Given the description of an element on the screen output the (x, y) to click on. 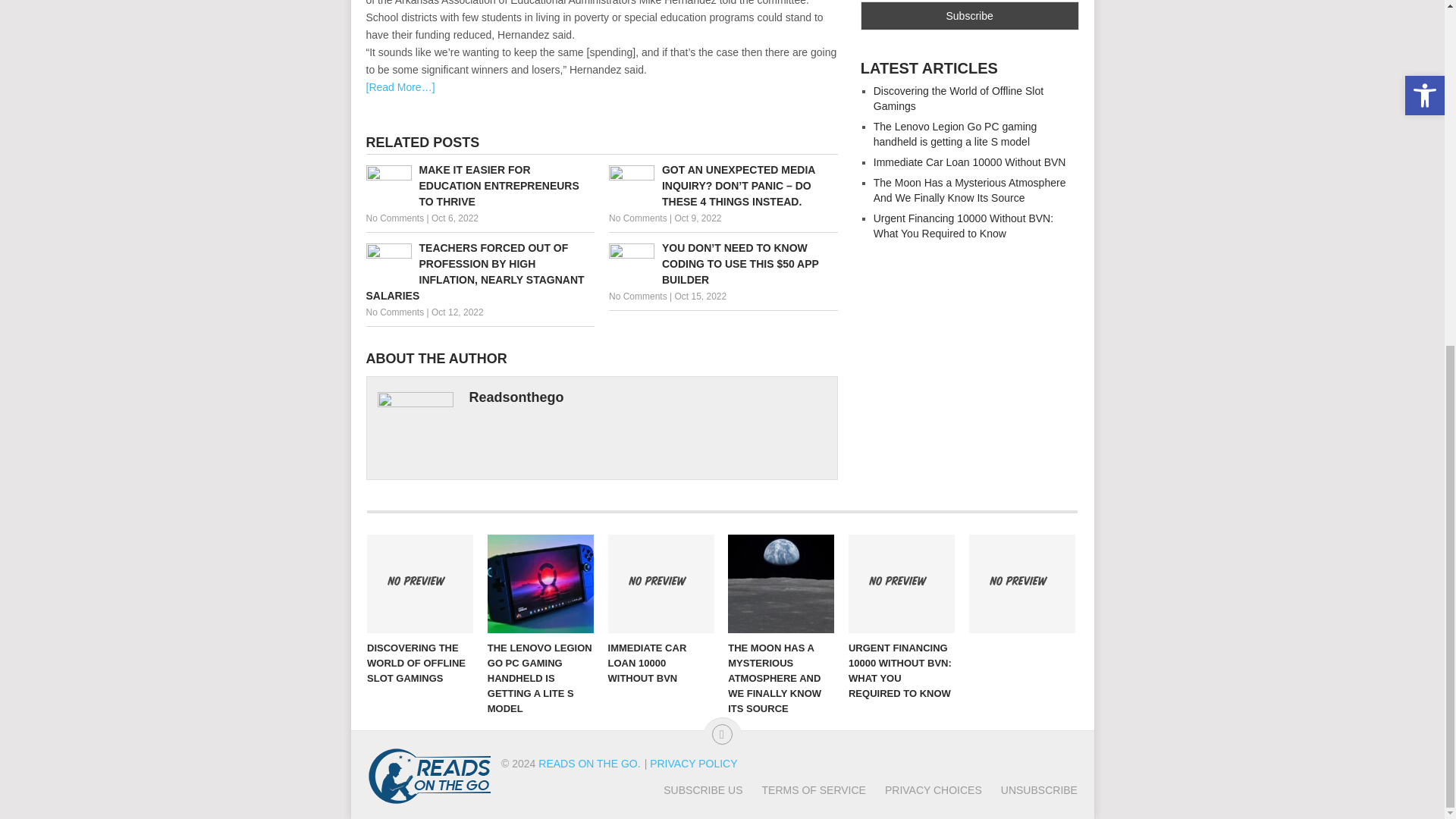
Discovering the World of Offline Slot Gamings (419, 583)
Subscribe (969, 15)
No Comments (394, 312)
MAKE IT EASIER FOR EDUCATION ENTREPRENEURS TO THRIVE (479, 185)
Make it easier for education entrepreneurs to thrive (479, 185)
No Comments (637, 296)
No Comments (637, 217)
